Given the description of an element on the screen output the (x, y) to click on. 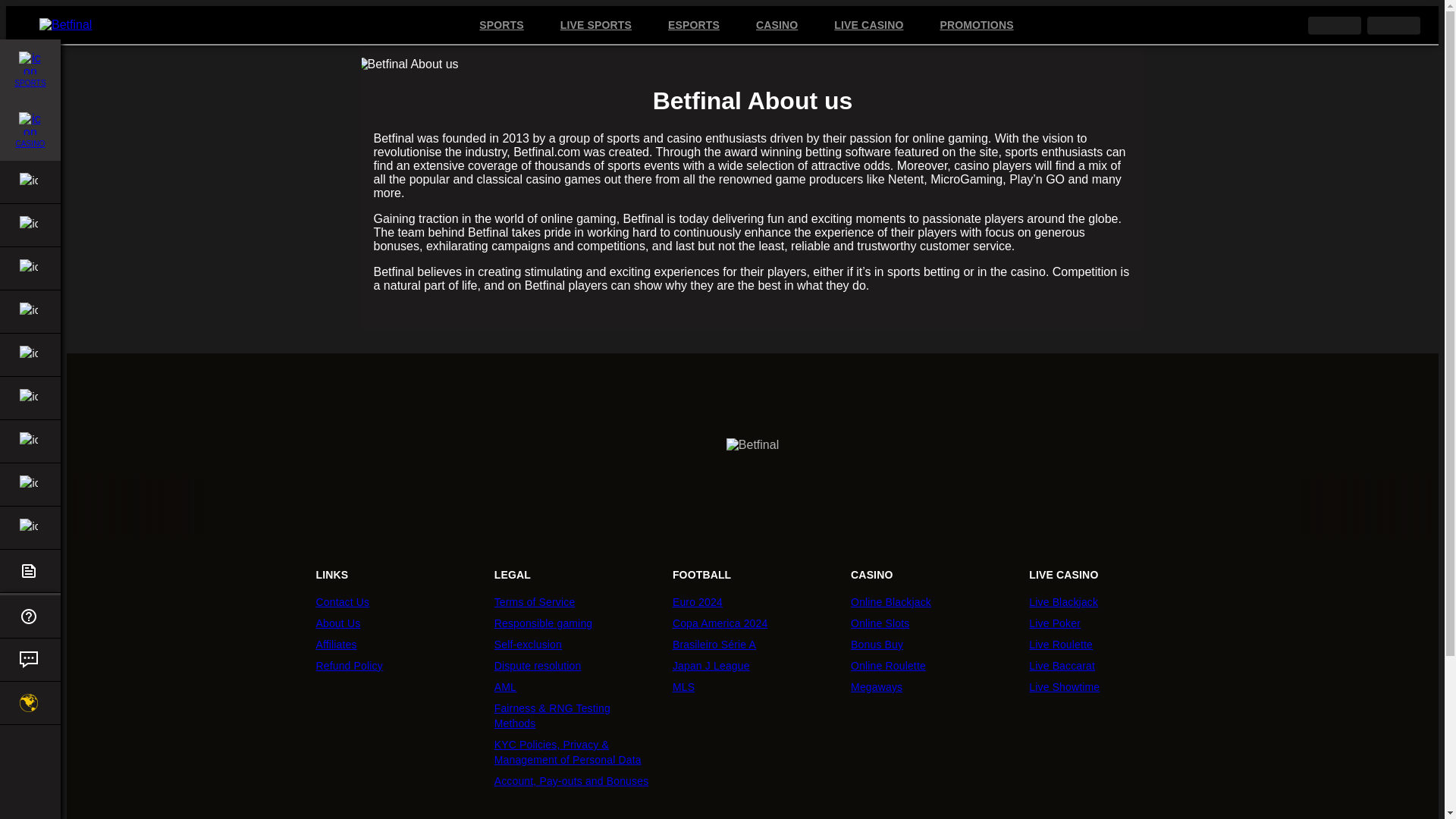
Enjoy the Top GameArt Online Slots (1119, 506)
A Place for the Hottest Microgaming Slots and Jackpots (1355, 506)
SPORTS (500, 25)
ESPORTS (693, 25)
CASINO (30, 129)
Play the Top Live Casino Games by Ezugi (251, 506)
A Place for the Hottest Microgaming Slots and Jackpots (567, 506)
LIVE CASINO (868, 25)
Play the Best iSoftBet Slots for Real Money (488, 506)
SPORTS (30, 69)
The Best Live Dealer Game Provider on the Market (883, 506)
Enjoy the Top GameArt Online Slots (330, 506)
Play top NetEnt Slot Hits in the Lobby (645, 506)
PROMOTIONS (976, 25)
Play the Best iSoftBet Slots for Real Money (1276, 506)
